Given the description of an element on the screen output the (x, y) to click on. 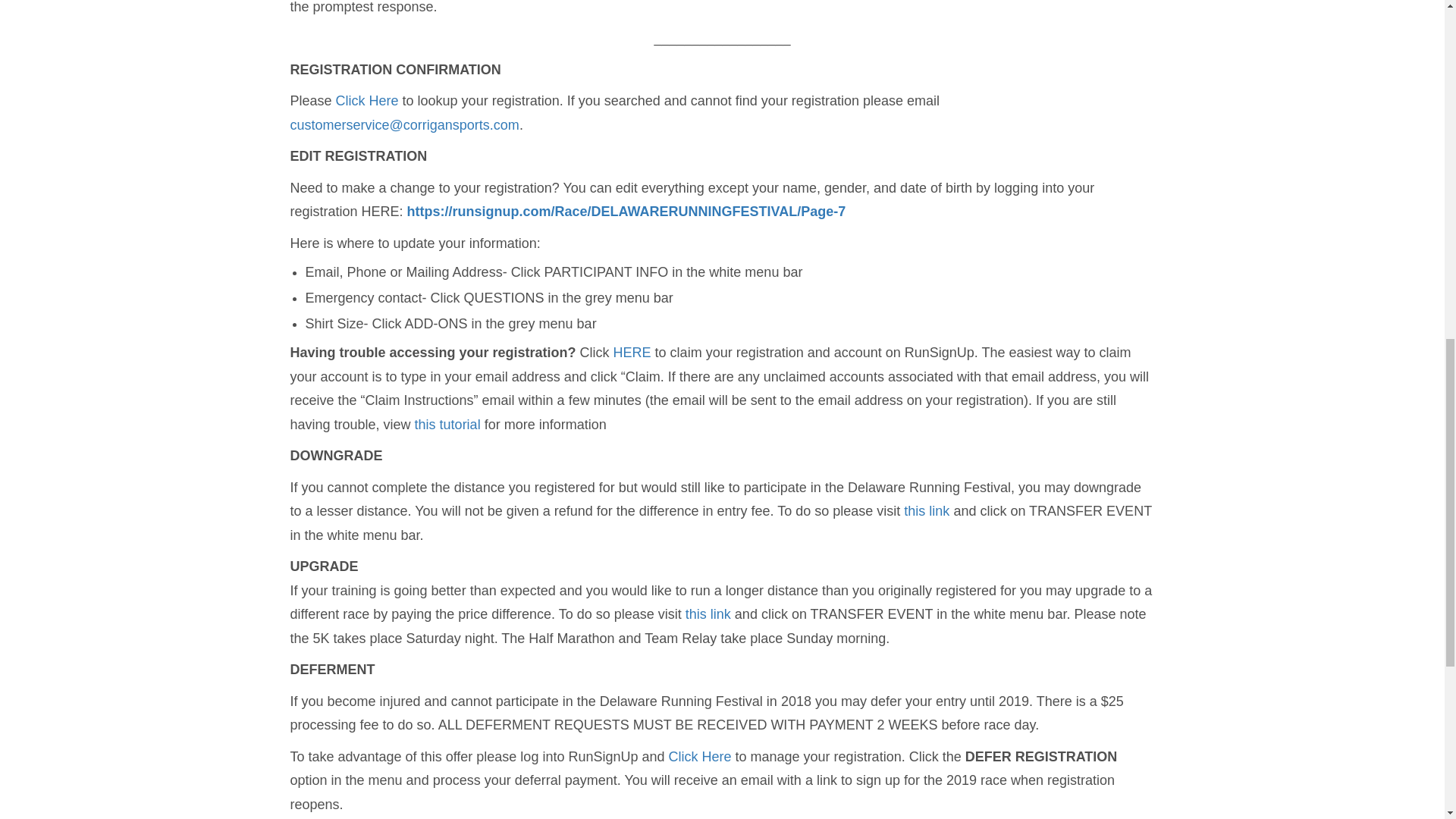
this tutorial (447, 424)
Click Here (700, 756)
HERE (631, 352)
this link (926, 510)
this link (707, 613)
Click Here (369, 100)
